Given the description of an element on the screen output the (x, y) to click on. 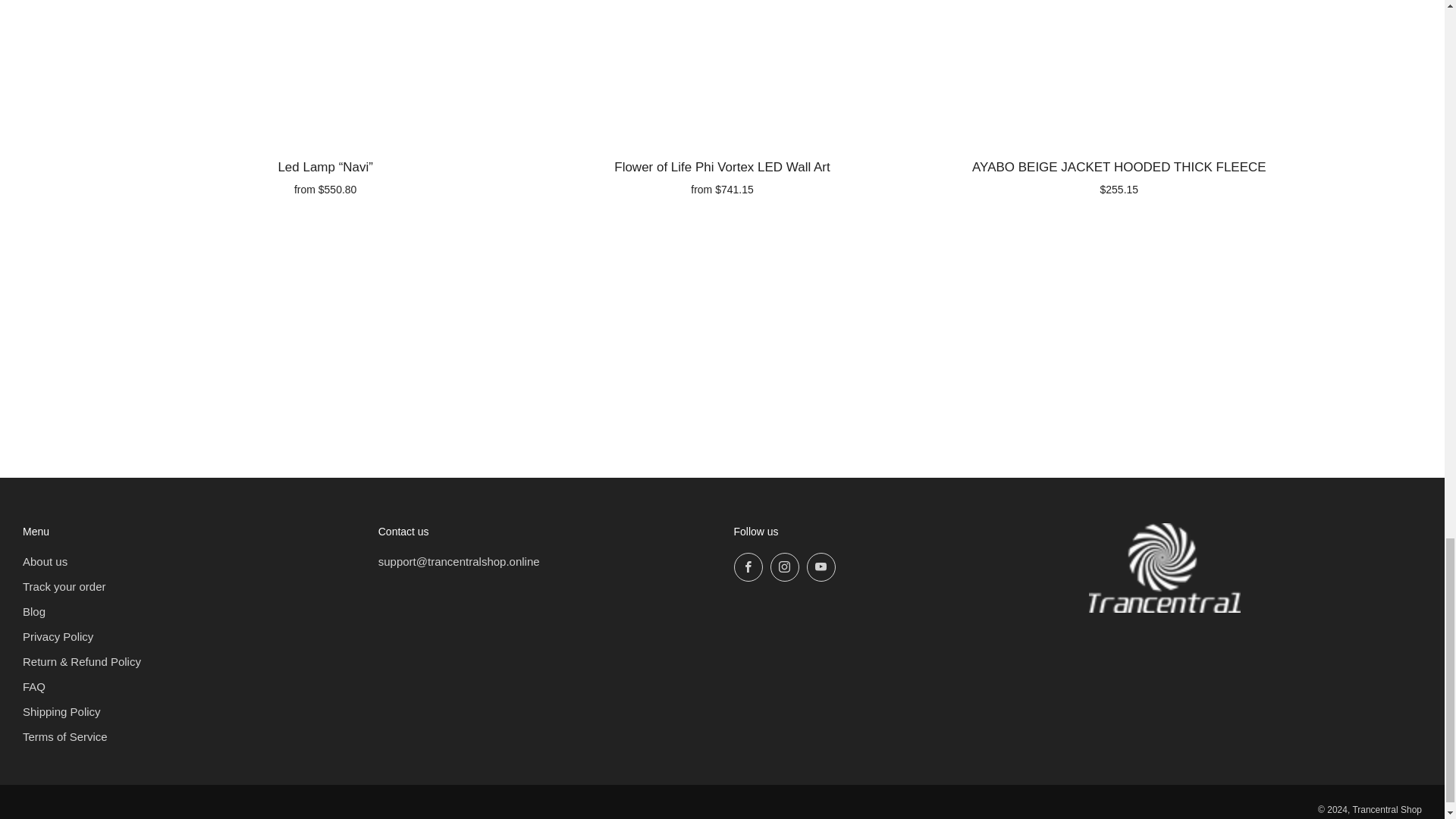
Flower of Life Phi Vortex LED Wall Art (721, 175)
AYABO BEIGE JACKET HOODED THICK FLEECE (1118, 175)
